Given the description of an element on the screen output the (x, y) to click on. 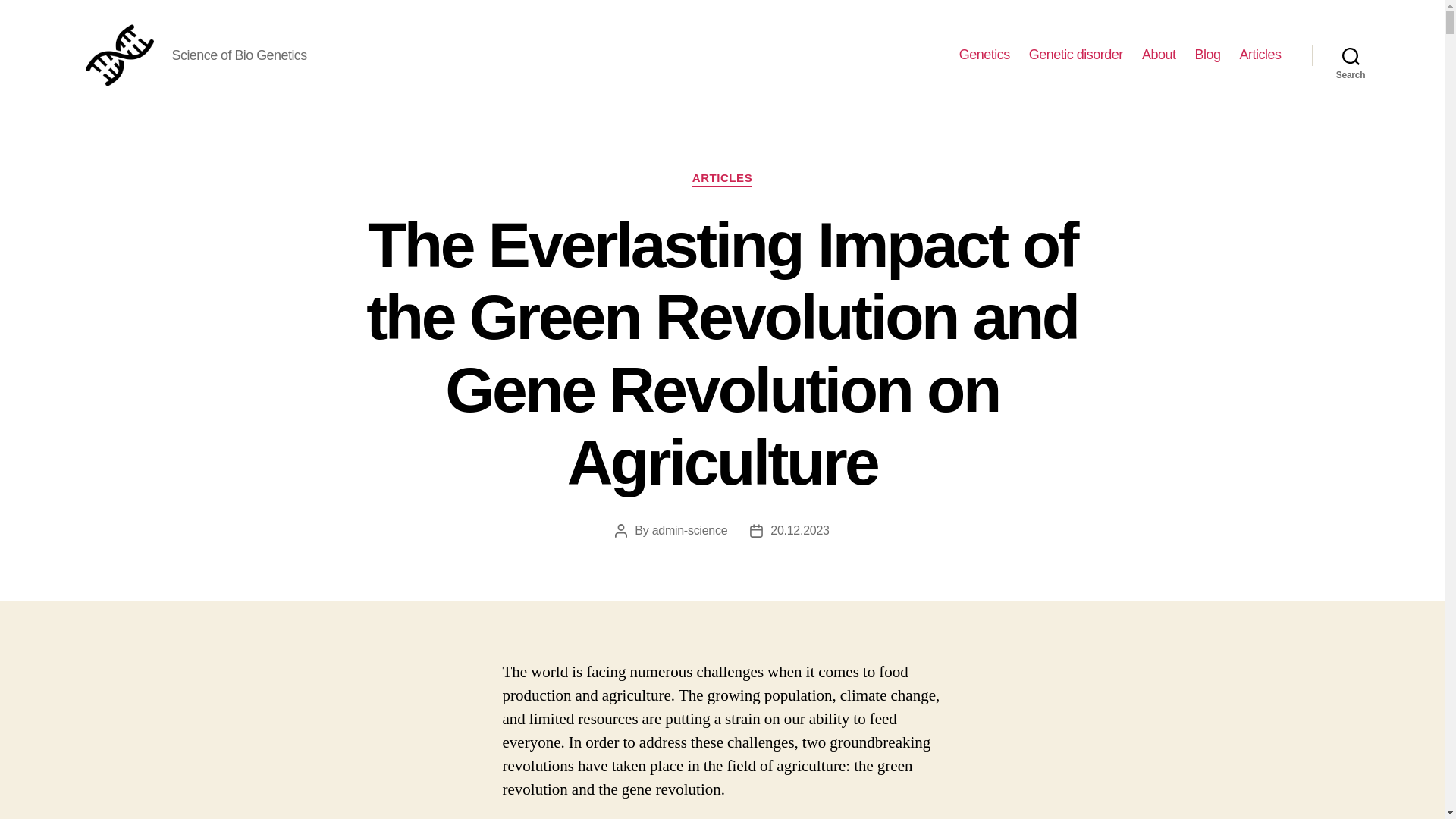
Genetic disorder (1075, 54)
ARTICLES (722, 178)
20.12.2023 (799, 530)
Blog (1206, 54)
Articles (1260, 54)
Search (1350, 55)
admin-science (690, 530)
About (1158, 54)
Genetics (984, 54)
